Given the description of an element on the screen output the (x, y) to click on. 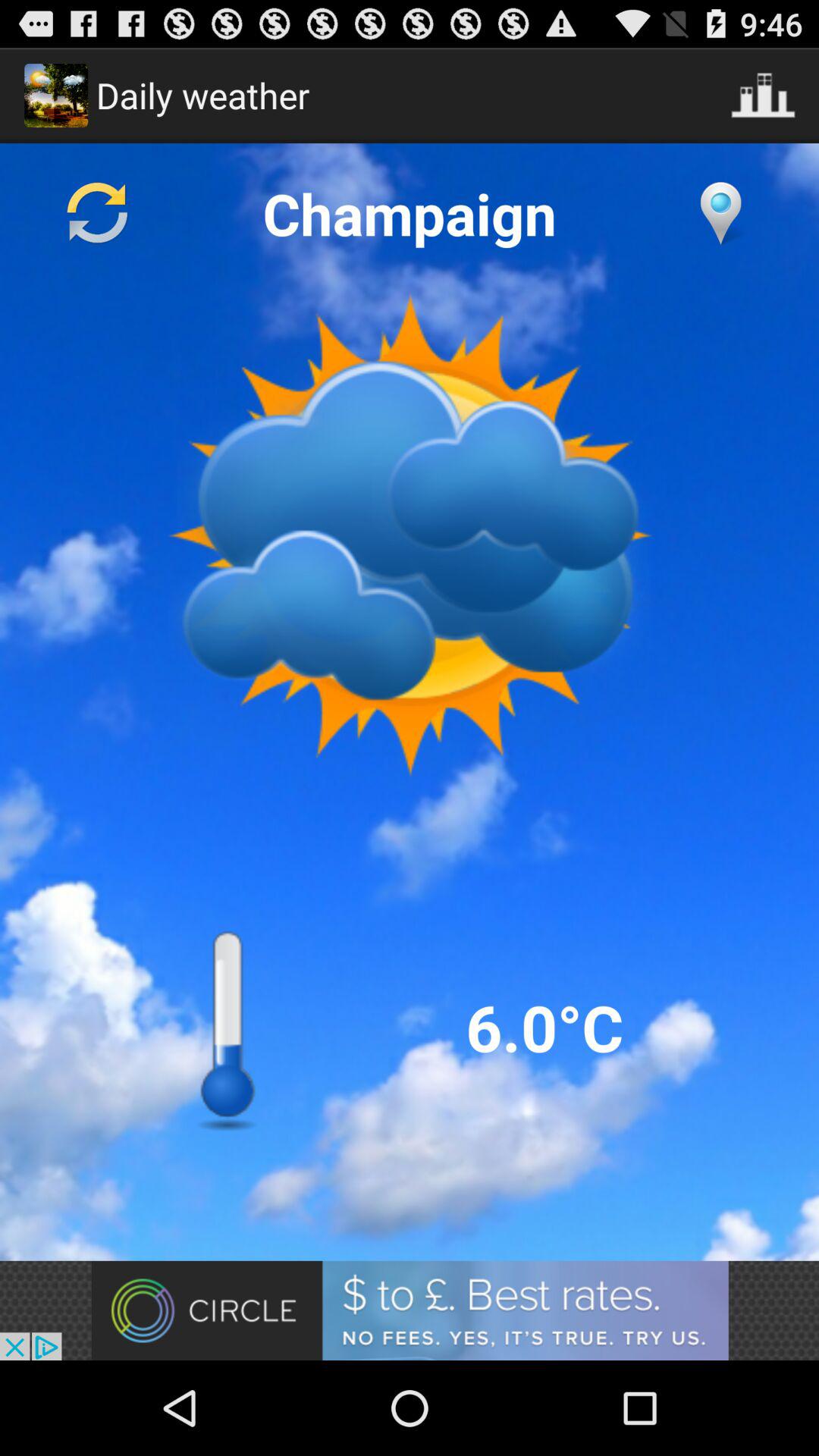
refresh (98, 213)
